Given the description of an element on the screen output the (x, y) to click on. 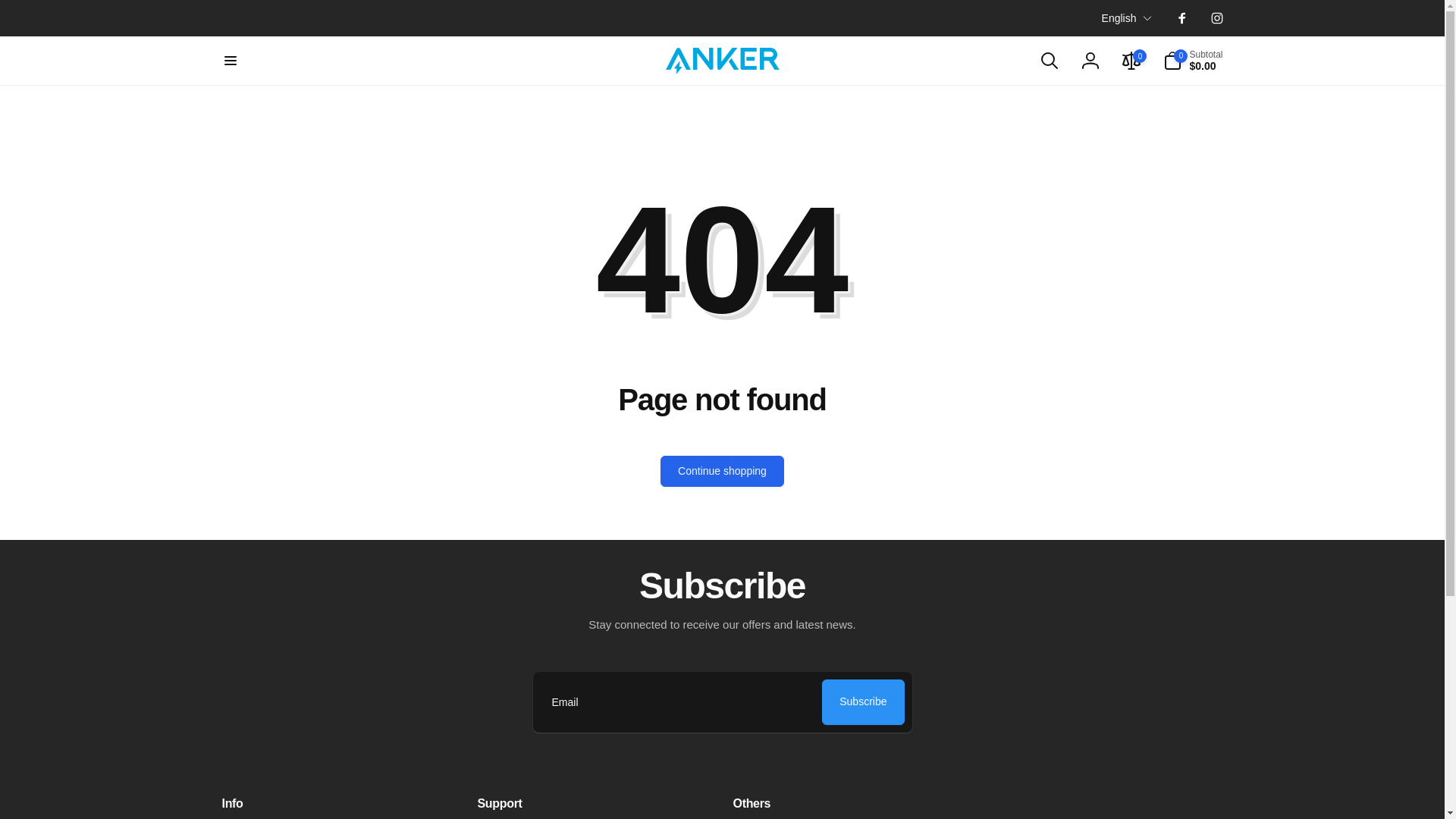
Facebook (1181, 18)
Skip to content (16, 8)
Instagram (1216, 18)
